Given the description of an element on the screen output the (x, y) to click on. 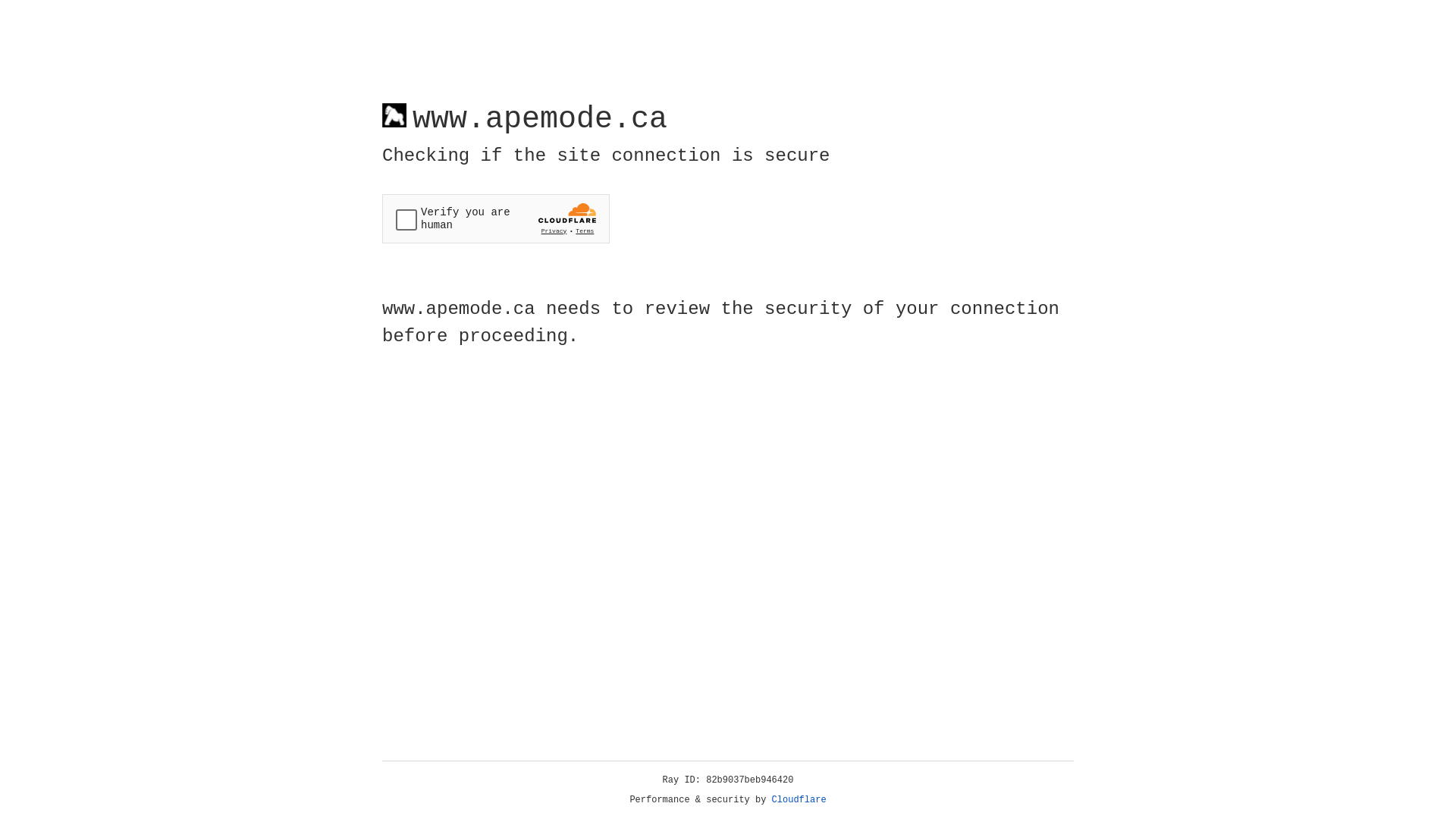
Cloudflare Element type: text (798, 799)
Widget containing a Cloudflare security challenge Element type: hover (495, 218)
